Given the description of an element on the screen output the (x, y) to click on. 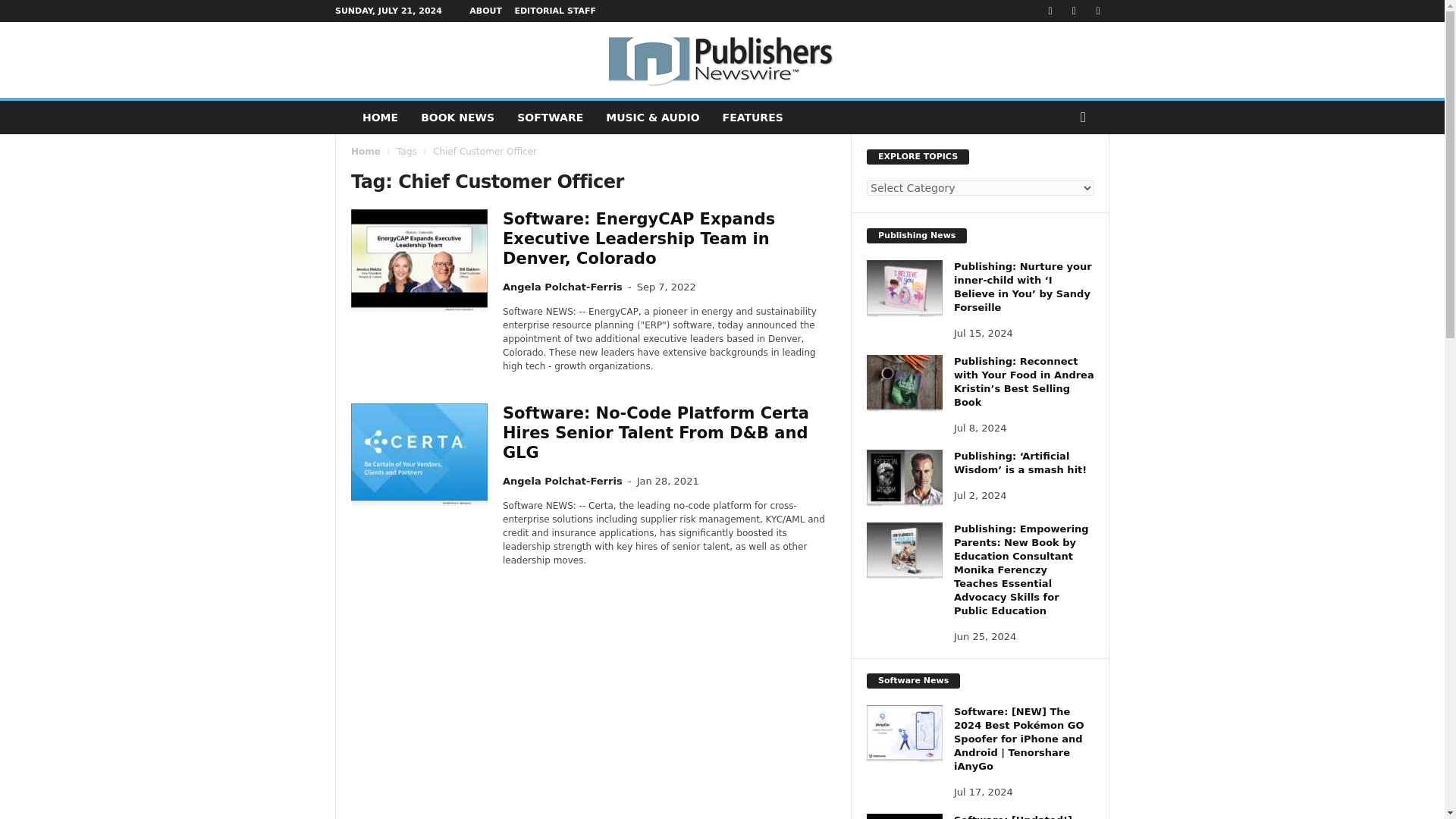
Home (365, 151)
FEATURES (752, 117)
HOME (379, 117)
BOOK NEWS (457, 117)
Angela Polchat-Ferris (562, 286)
Angela Polchat-Ferris (562, 480)
ABOUT (485, 10)
SOFTWARE (549, 117)
EDITORIAL STAFF (554, 10)
